Given the description of an element on the screen output the (x, y) to click on. 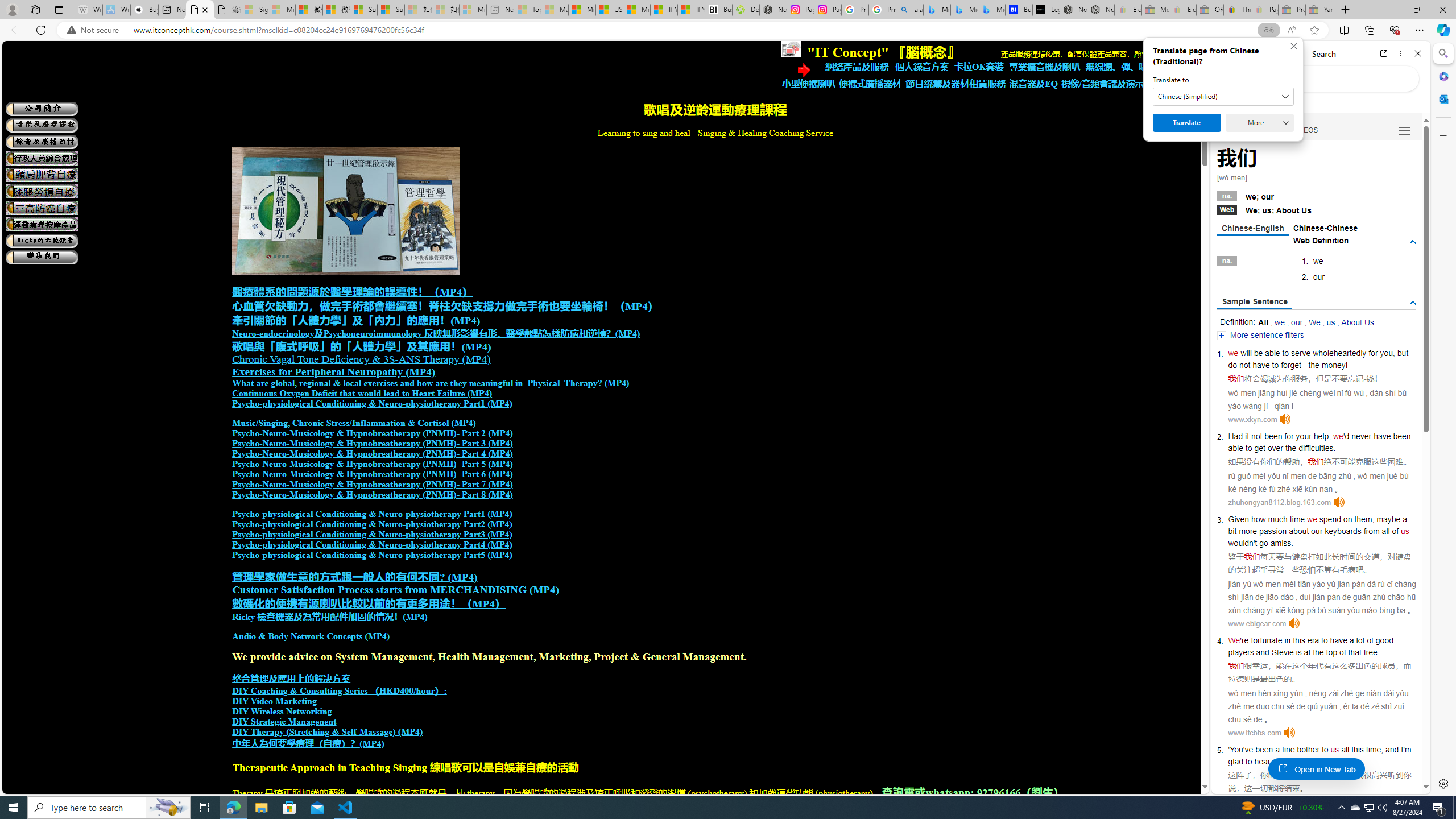
WebWe; us; About Us (1316, 209)
Microsoft 365 (1442, 76)
Press Room - eBay Inc. - Sleeping (1292, 9)
Minimize (1390, 9)
About Us (1357, 322)
never (1361, 435)
Chinese-Chinese (1325, 227)
